Given the description of an element on the screen output the (x, y) to click on. 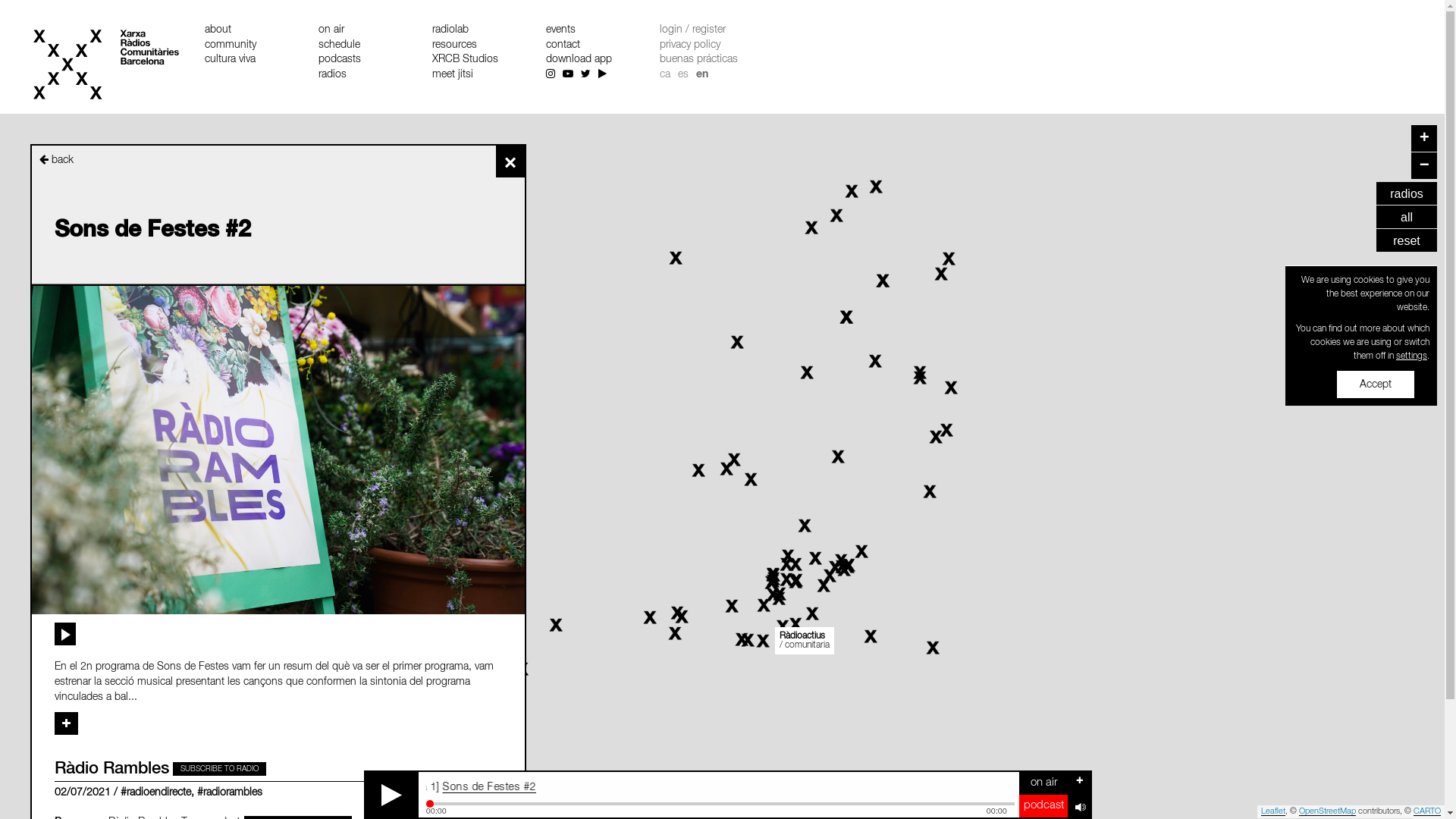
Mute Element type: hover (1078, 805)
schedule Element type: text (339, 44)
Play Element type: hover (391, 794)
all Element type: text (1406, 216)
events Element type: text (560, 29)
Sons de Festes #2 Element type: text (538, 787)
podcasts Element type: text (339, 58)
resources Element type: text (454, 44)
meet jitsi Element type: text (452, 74)
radiolab Element type: text (450, 29)
en Element type: text (702, 74)
OpenStreetMap Element type: text (1327, 810)
login / register Element type: text (692, 29)
CARTO Element type: text (1426, 810)
reset Element type: text (1406, 240)
es Element type: text (682, 74)
XRCB Studios Element type: text (465, 58)
community Element type: text (230, 44)
privacy policy Element type: text (689, 44)
radios Element type: text (332, 74)
ca Element type: text (664, 74)
about Element type: text (217, 29)
contact Element type: text (563, 44)
settings Element type: text (1411, 356)
on air Element type: text (331, 29)
Accept Element type: text (1375, 384)
SUBSCRIBE TO RADIO Element type: text (219, 768)
Leaflet Element type: text (1273, 810)
download app Element type: text (578, 58)
cultura viva Element type: text (229, 58)
radios Element type: text (1406, 193)
+ Element type: text (1424, 138)
